Given the description of an element on the screen output the (x, y) to click on. 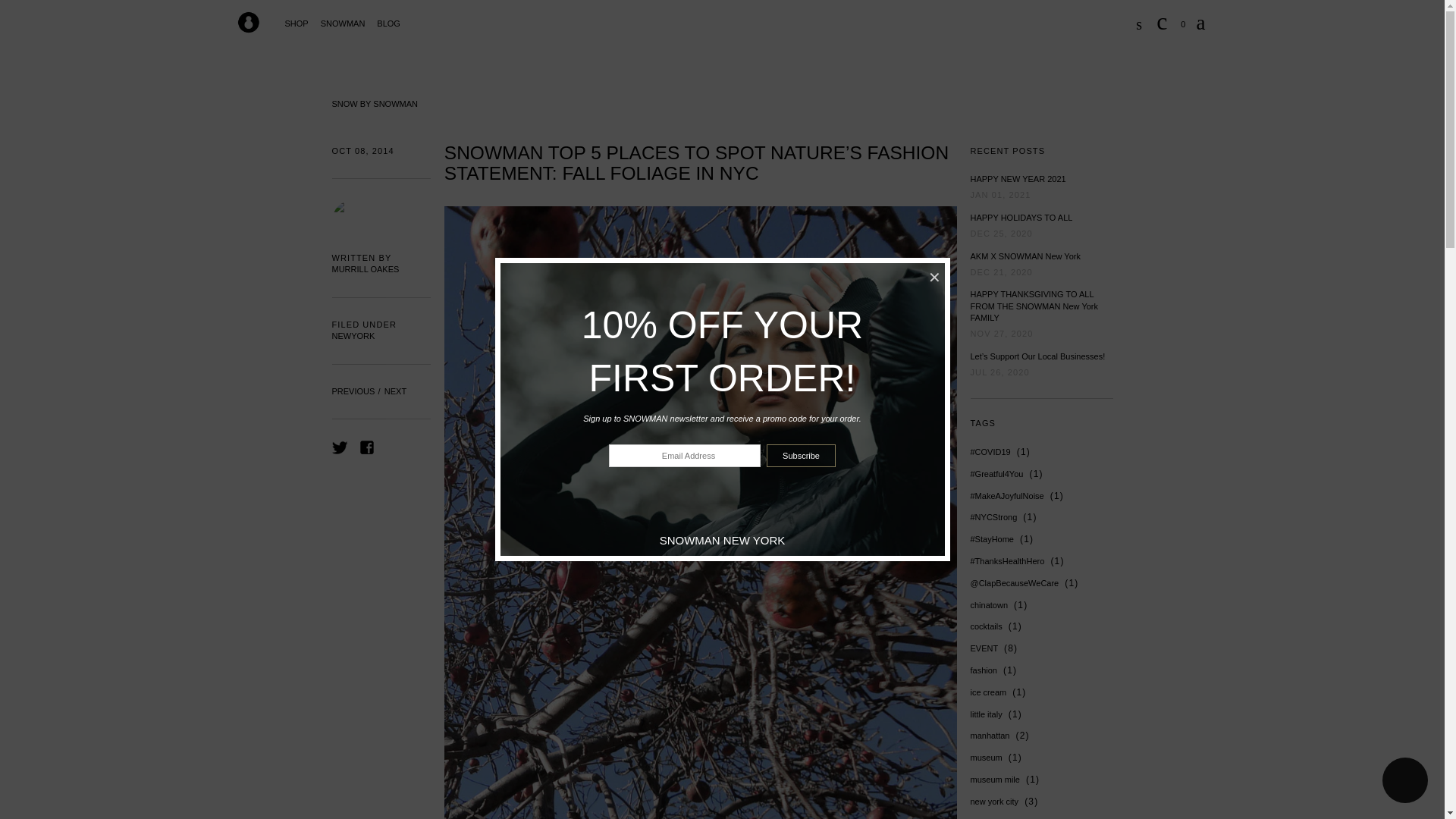
SHOP (296, 23)
Subscribe (801, 455)
BLOG (388, 23)
SNOWMAN (342, 23)
Share on Facebook:  (366, 446)
Share on Twitter:  (339, 446)
Shopify online store chat (1404, 781)
